Given the description of an element on the screen output the (x, y) to click on. 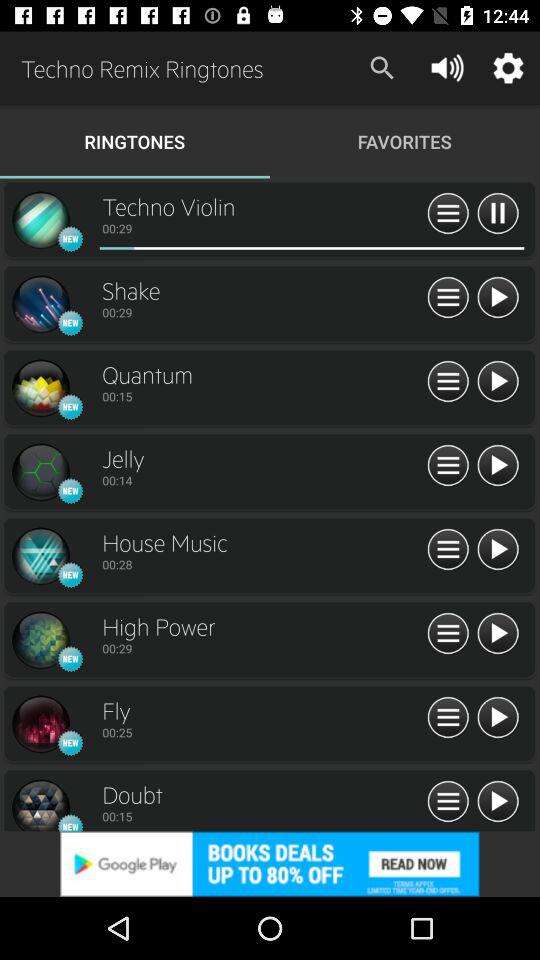
click start (497, 465)
